Given the description of an element on the screen output the (x, y) to click on. 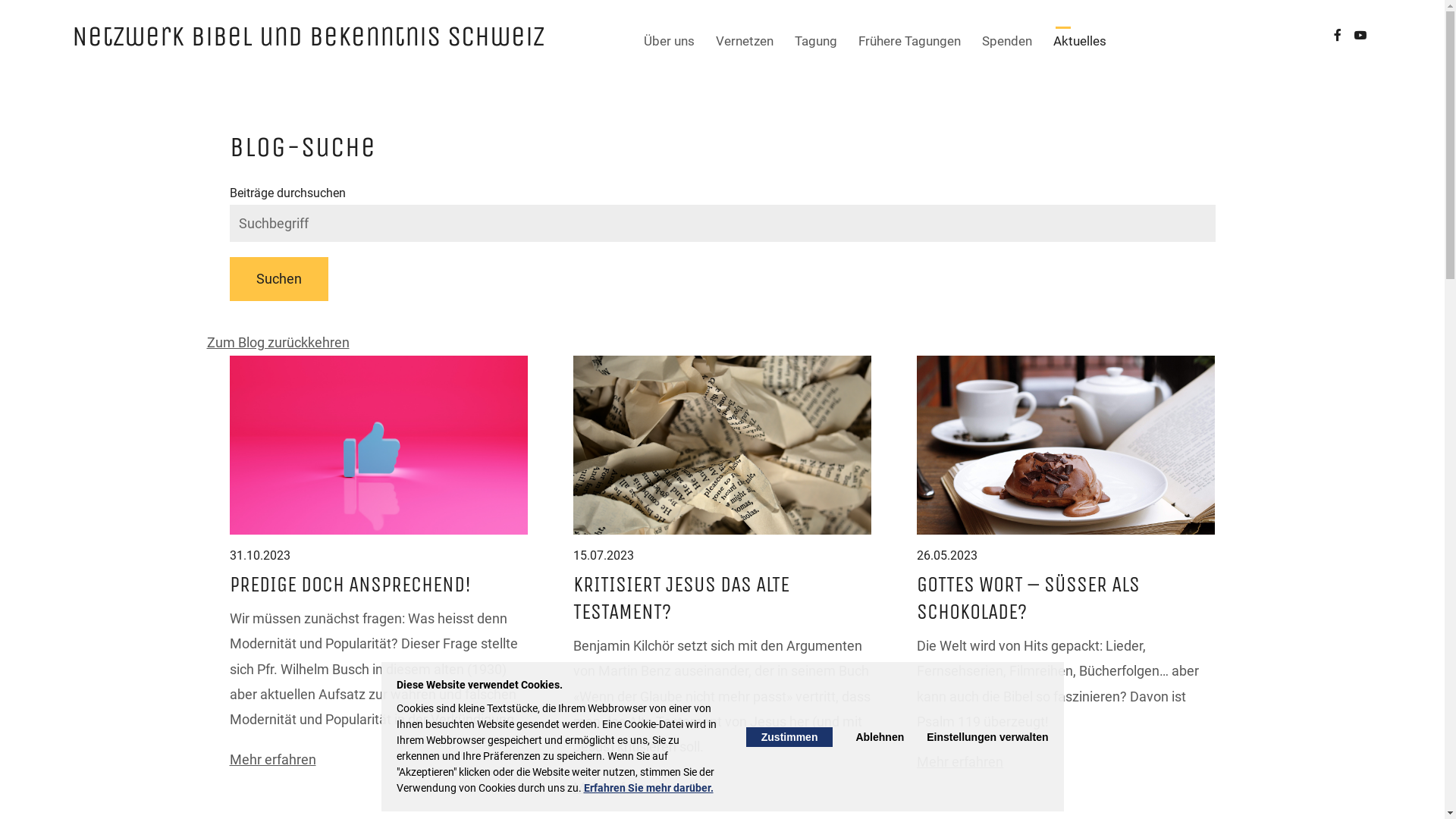
Ablehnen Element type: text (879, 736)
KRITISIERT JESUS DAS ALTE TESTAMENT? Element type: text (681, 597)
Tagung Element type: text (815, 40)
Einstellungen verwalten Element type: text (987, 736)
Zustimmen Element type: text (789, 736)
Vernetzen Element type: text (744, 40)
Mehr erfahren Element type: text (959, 761)
Spenden Element type: text (1006, 40)
Suchen Element type: text (278, 279)
Mehr erfahren Element type: text (272, 758)
Mehr erfahren Element type: text (616, 787)
PREDIGE DOCH ANSPRECHEND! Element type: text (349, 583)
Aktuelles Element type: text (1079, 40)
Netzwerk Bibel und Bekenntnis Schweiz Element type: text (308, 36)
